Given the description of an element on the screen output the (x, y) to click on. 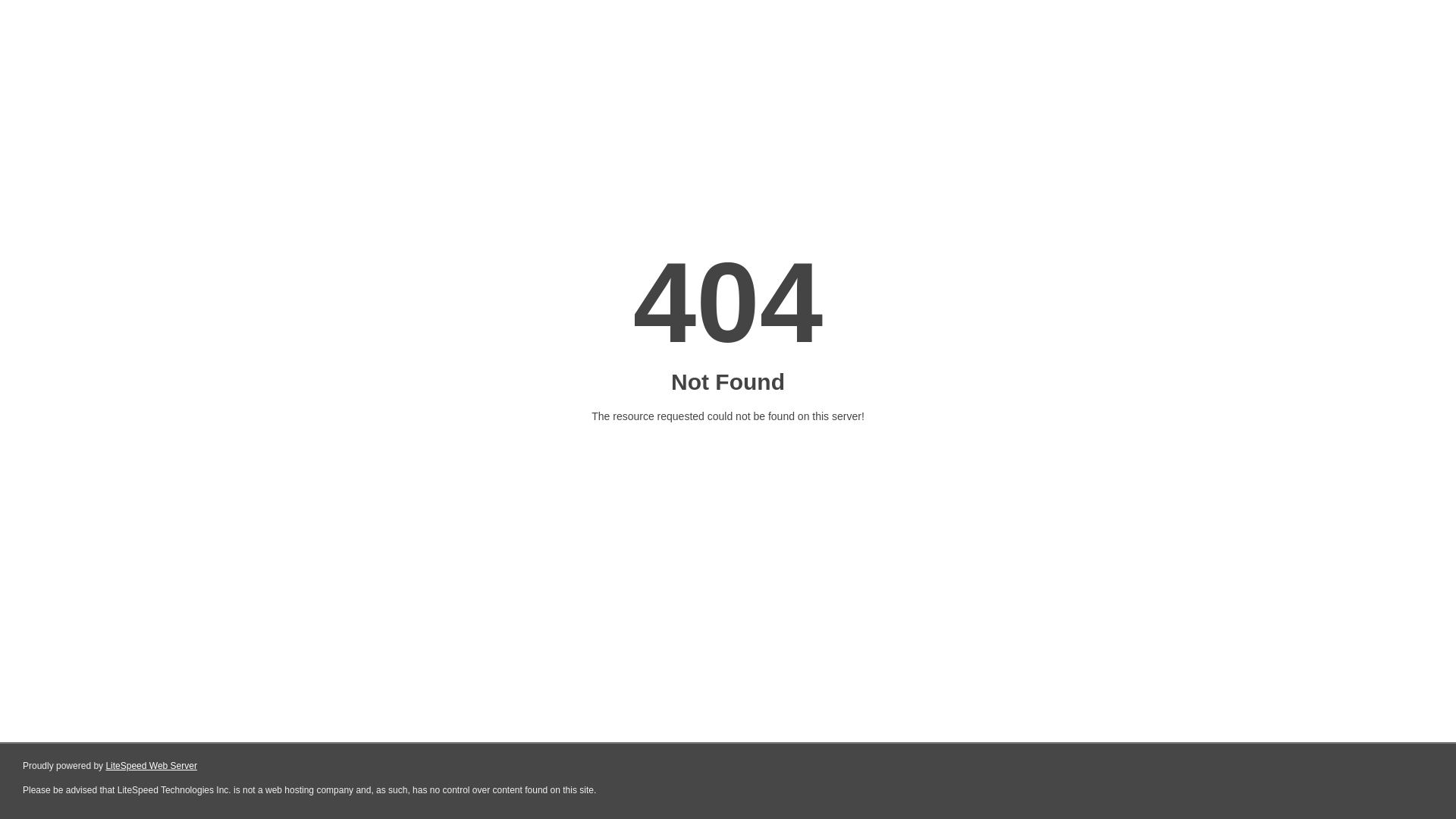
LiteSpeed Web Server Element type: text (151, 765)
